Given the description of an element on the screen output the (x, y) to click on. 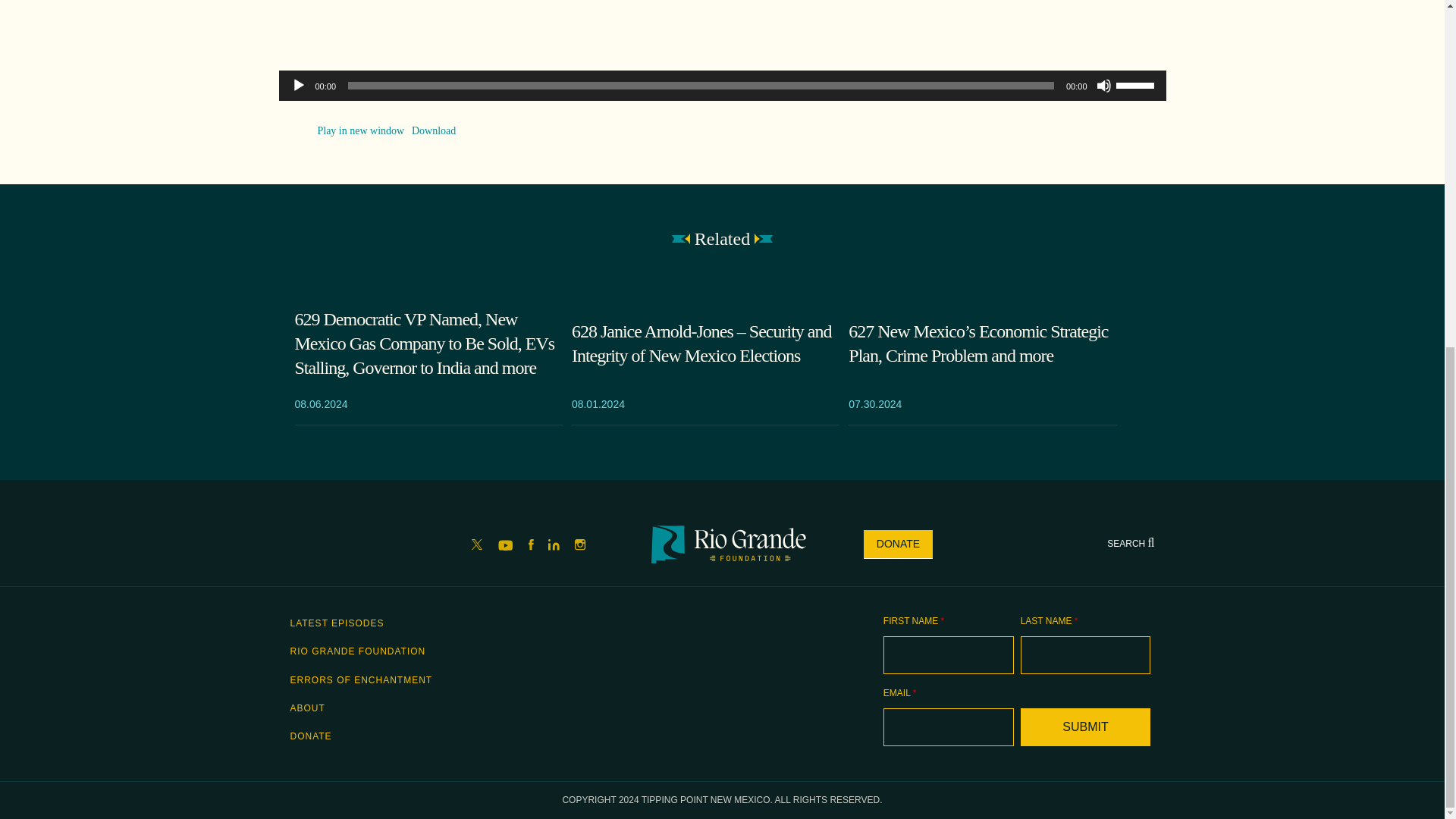
Submit (1085, 727)
DONATE (898, 543)
Download (433, 130)
Play in new window (360, 130)
Play in new window (360, 130)
SEARCH (1130, 543)
Play (298, 85)
Download (433, 130)
Mute (1104, 85)
